Given the description of an element on the screen output the (x, y) to click on. 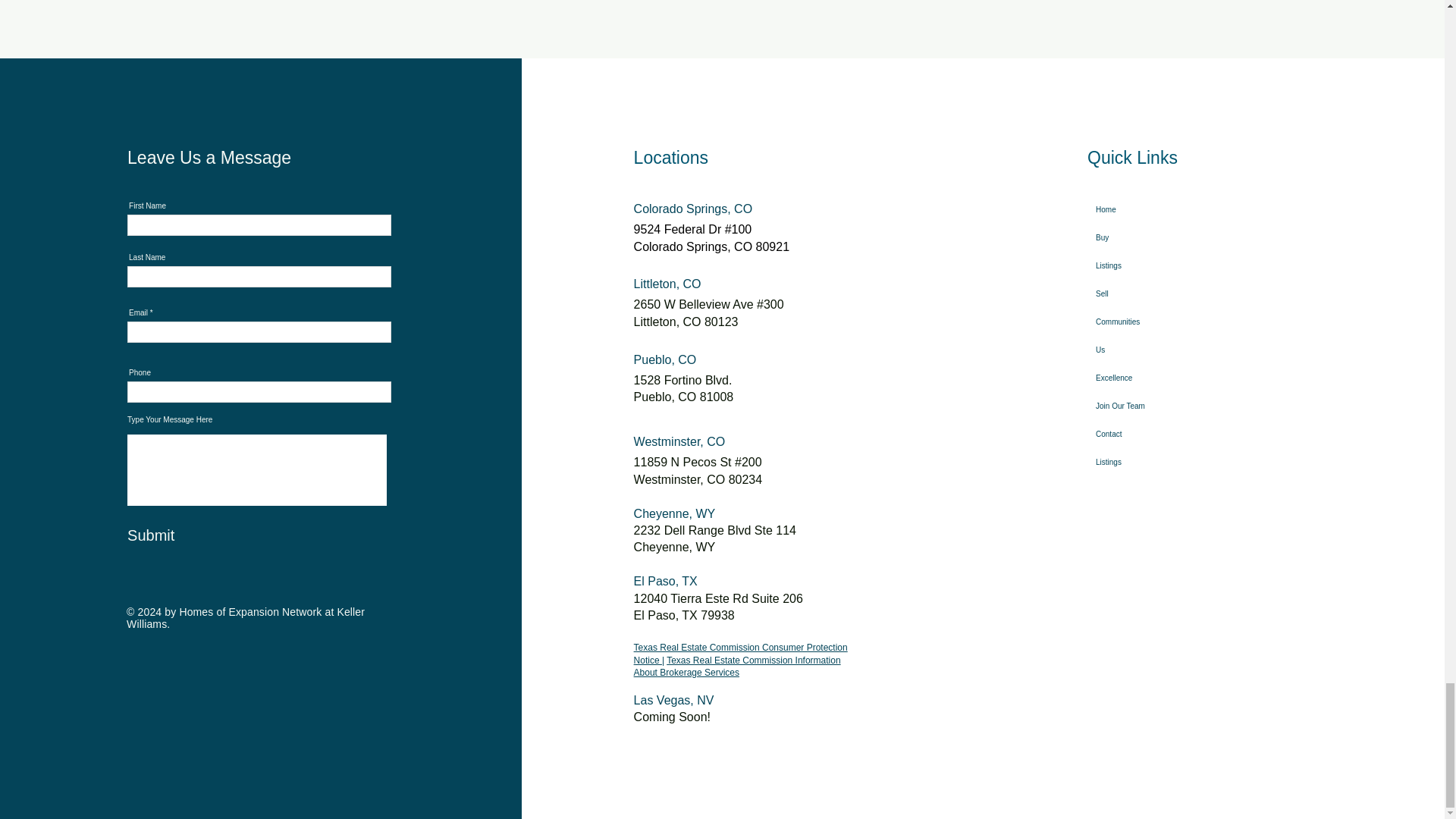
Excellence (1138, 377)
Submit (203, 534)
Listings (1138, 265)
Home (1138, 209)
Texas Real Estate Commission Consumer Protection Notice  (740, 653)
Sell (1138, 293)
Buy (1138, 237)
Listings (1138, 461)
Join Our Team (1138, 406)
Communities (1138, 321)
